Given the description of an element on the screen output the (x, y) to click on. 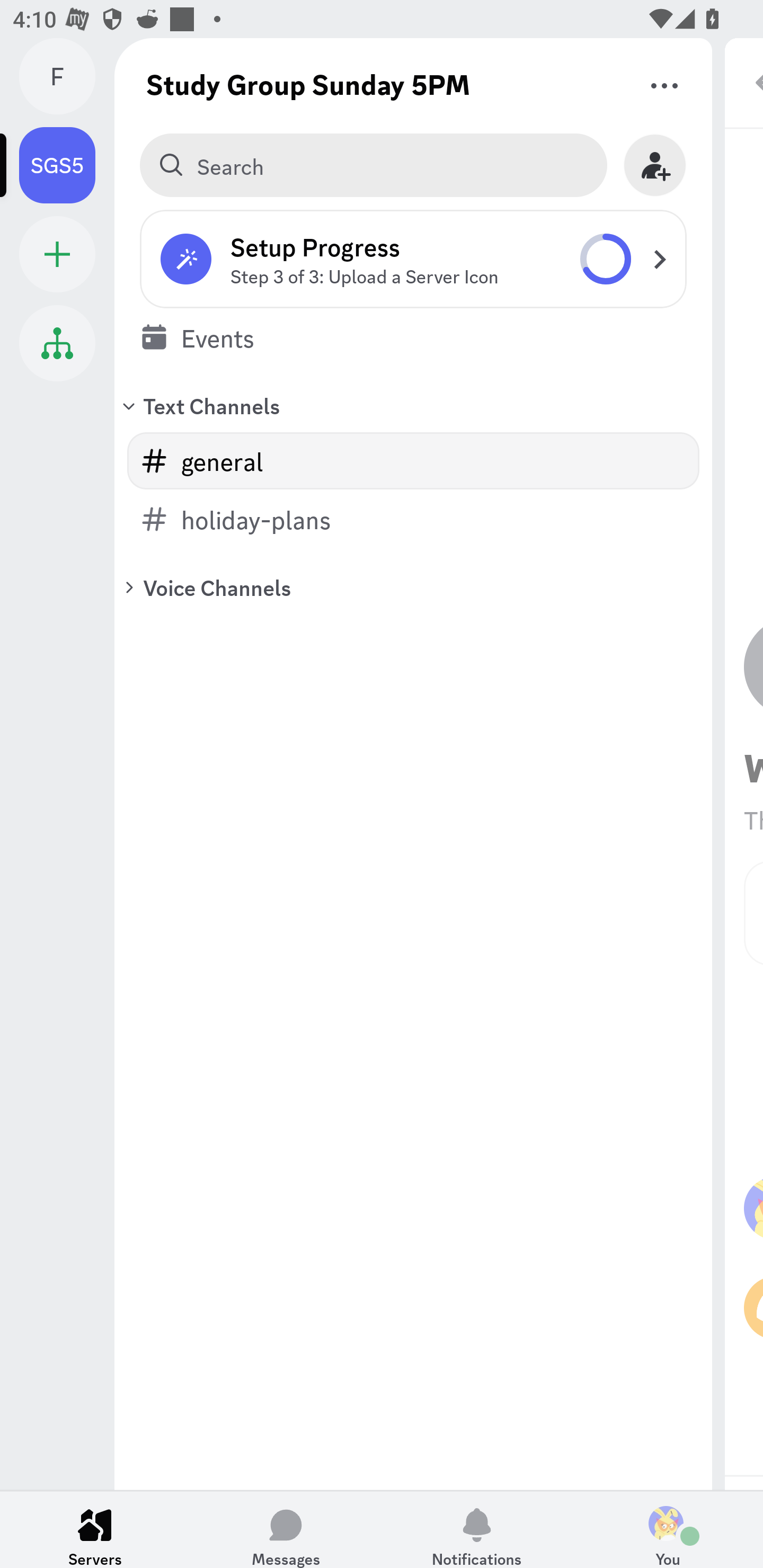
  Friends F (66, 75)
Study Group Sunday 5PM (308, 83)
  Study Group Sunday 5PM SGS5 (66, 165)
Search (373, 165)
Invite (654, 165)
Add a Server (57, 253)
Student Hub (57, 343)
Events (413, 336)
Text Channels (412, 404)
general (text channel) general (413, 460)
holiday-plans (text channel) holiday-plans (413, 518)
Voice Channels (412, 586)
Servers (95, 1529)
Messages (285, 1529)
Notifications (476, 1529)
You (667, 1529)
